Given the description of an element on the screen output the (x, y) to click on. 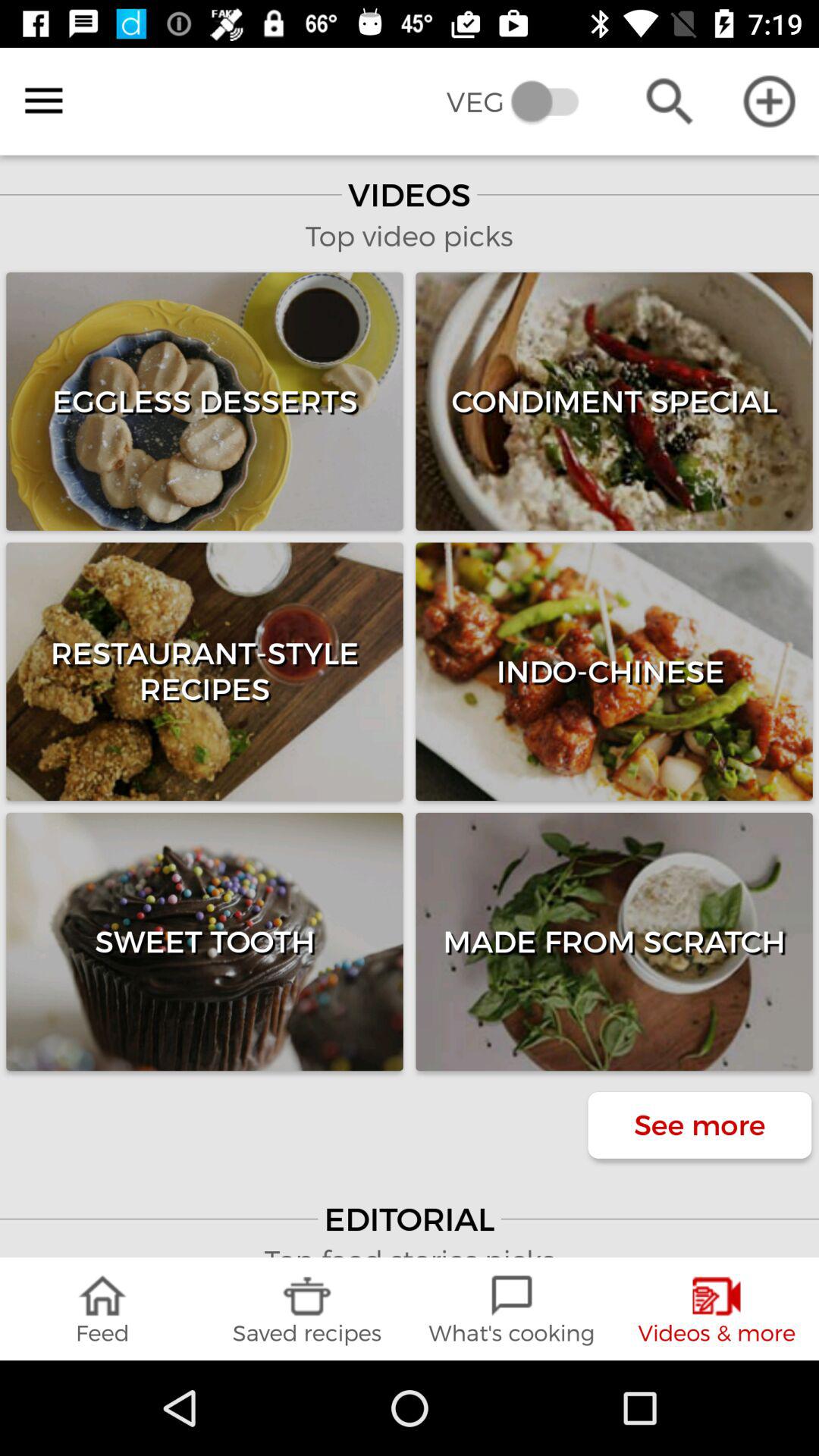
turn off icon to the left of veg icon (43, 101)
